Given the description of an element on the screen output the (x, y) to click on. 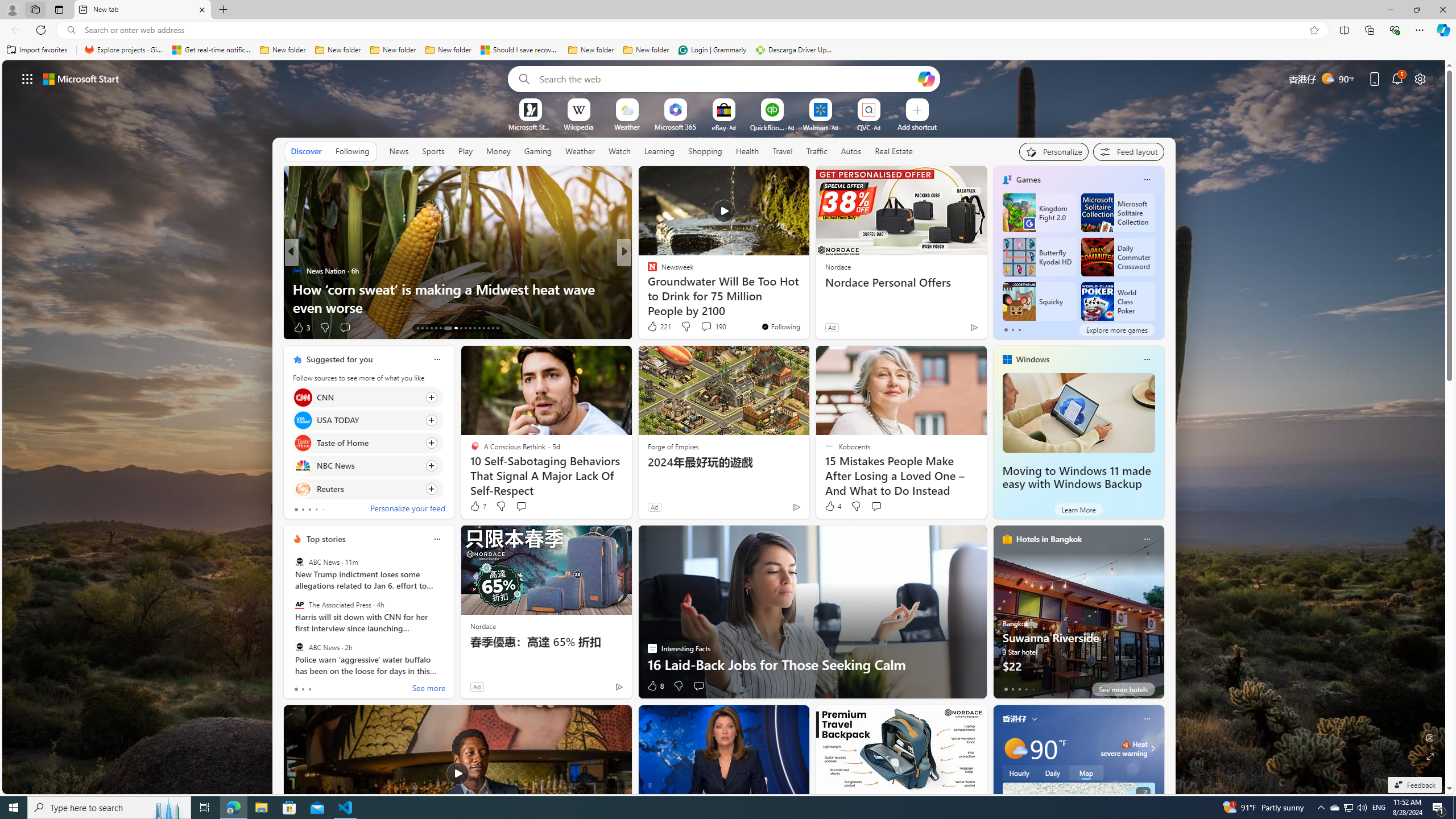
4 Like (831, 505)
View comments 19 Comment (704, 327)
Nordace.com (663, 288)
Reuters (302, 488)
Minimize (1390, 9)
More options (1146, 718)
AutomationID: tab-20 (452, 328)
The Associated Press (299, 604)
Start the conversation (698, 685)
To get missing image descriptions, open the context menu. (529, 109)
Play (465, 151)
AutomationID: tab-13 (417, 328)
Mostly sunny (1014, 748)
Health (746, 151)
